Given the description of an element on the screen output the (x, y) to click on. 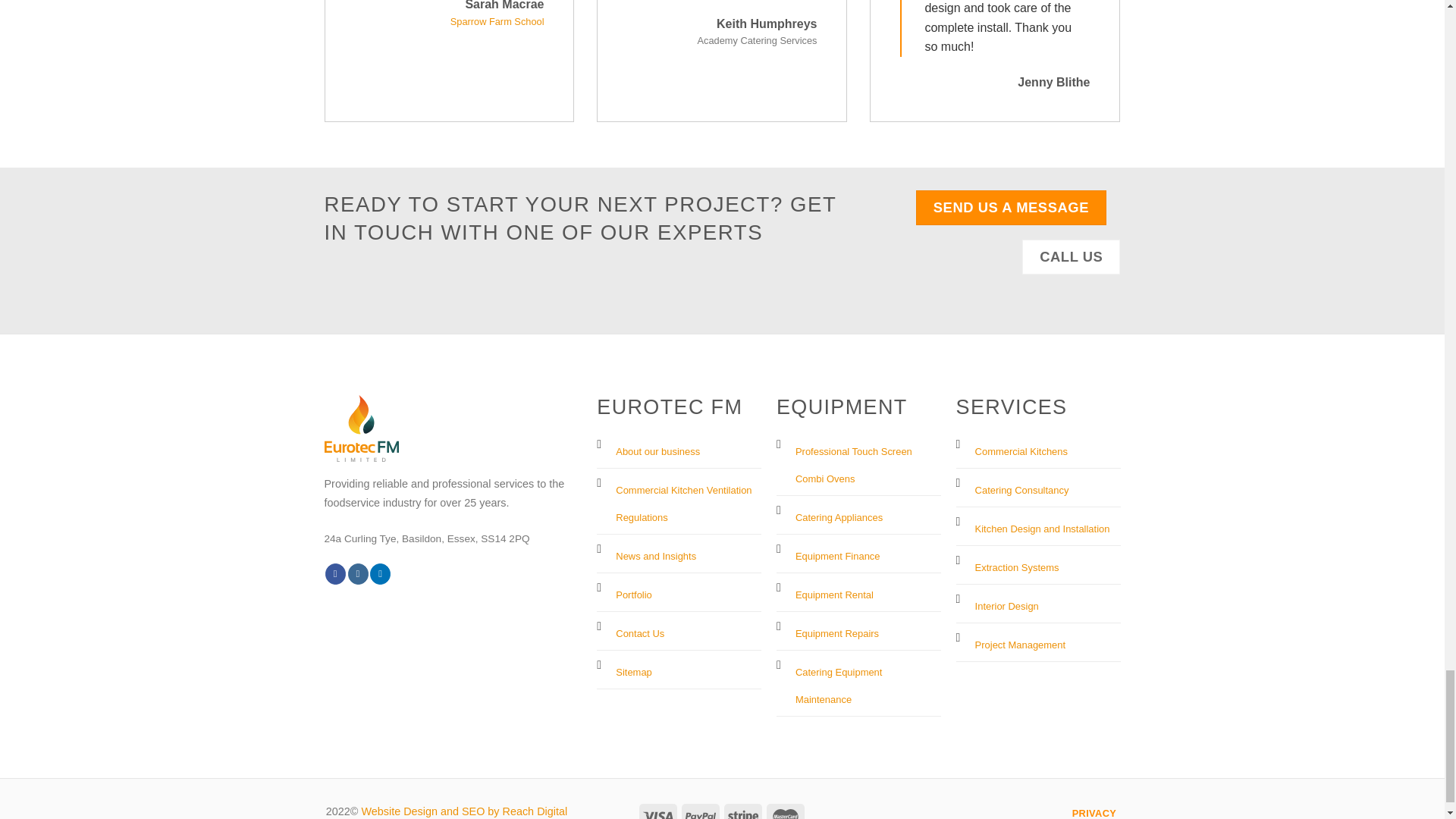
SEND US A MESSAGE (1010, 207)
CALL US (1070, 256)
News and Insights (655, 552)
Sparrow Farm School (496, 21)
Commercial Kitchen Ventilation Regulations (683, 500)
About our business (657, 448)
Portfolio (633, 591)
